Given the description of an element on the screen output the (x, y) to click on. 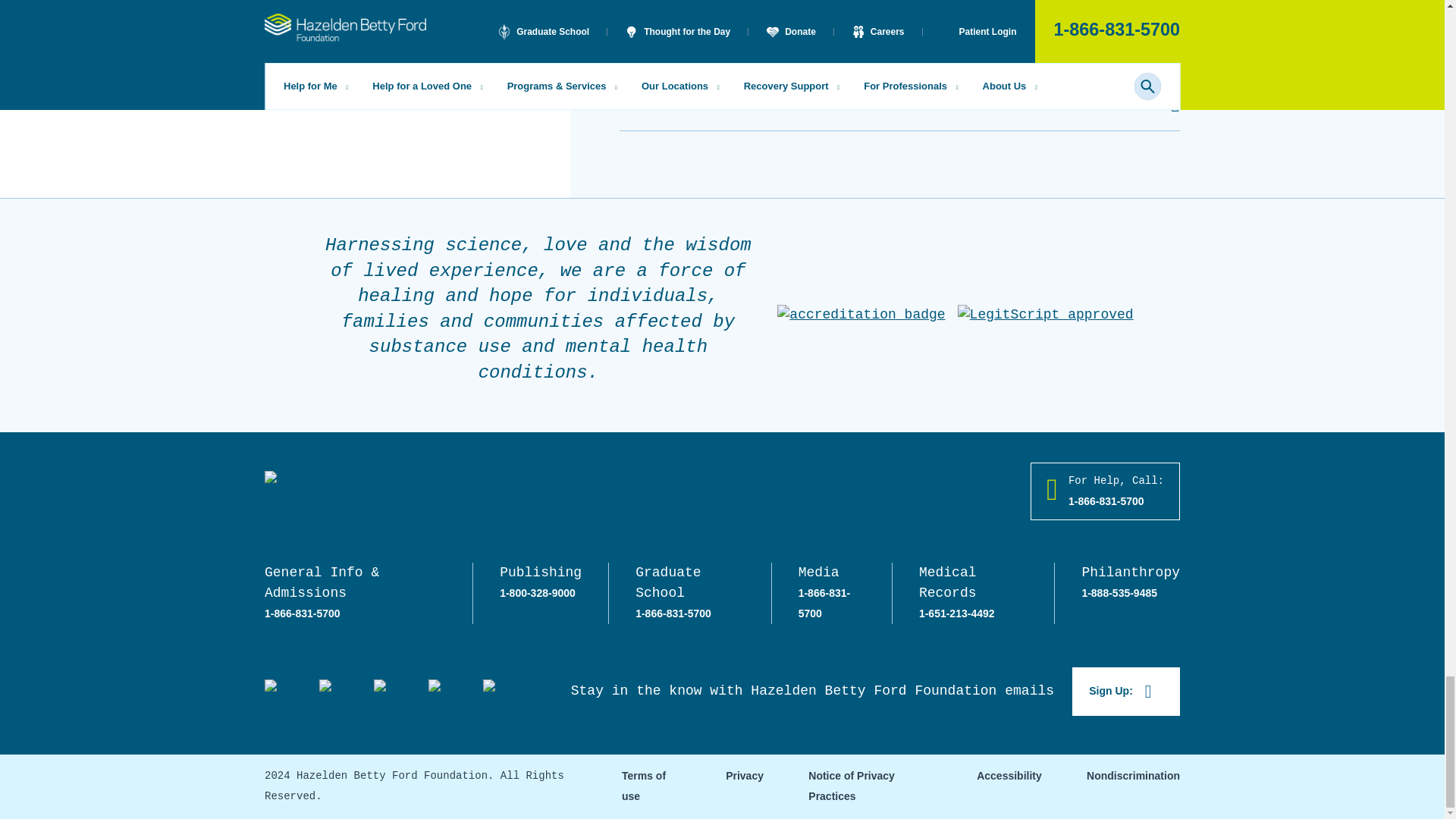
Facebook (276, 691)
Verify LegitScript Approval (1046, 314)
Twitter (330, 691)
LinkedIn (440, 691)
Youtube (494, 691)
Instagram (385, 691)
